Given the description of an element on the screen output the (x, y) to click on. 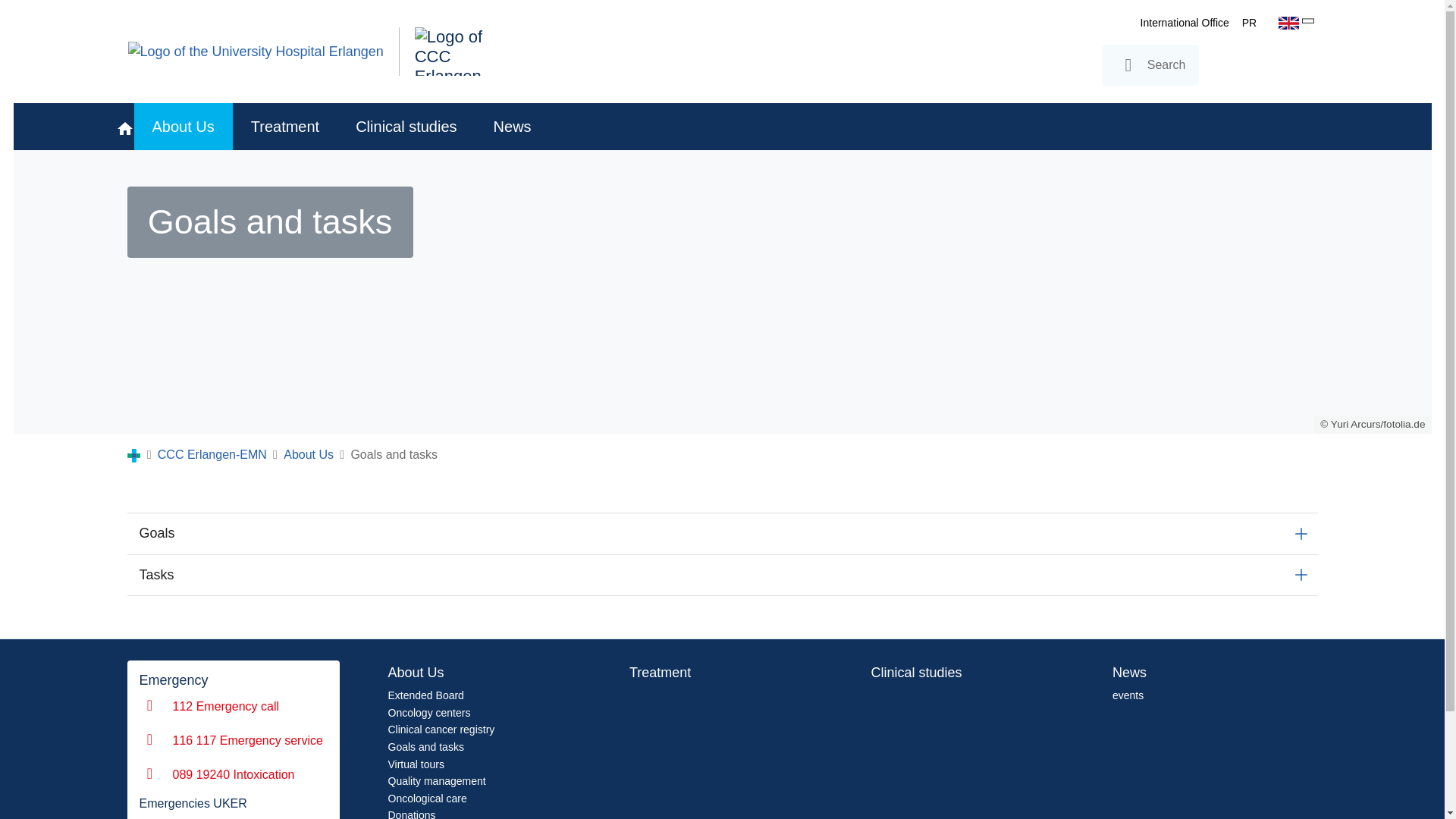
Go to the homepage of the University Hospital Erlangen (255, 51)
Treatment (284, 126)
Logo of the University Hospital Erlangen (255, 51)
International Office (1184, 22)
About Us (182, 126)
About Us (182, 126)
Clinical studies (405, 126)
CCC Erlangen-EMN (211, 454)
Goals (722, 533)
Opens the language switcher to select another language. (1288, 24)
